Given the description of an element on the screen output the (x, y) to click on. 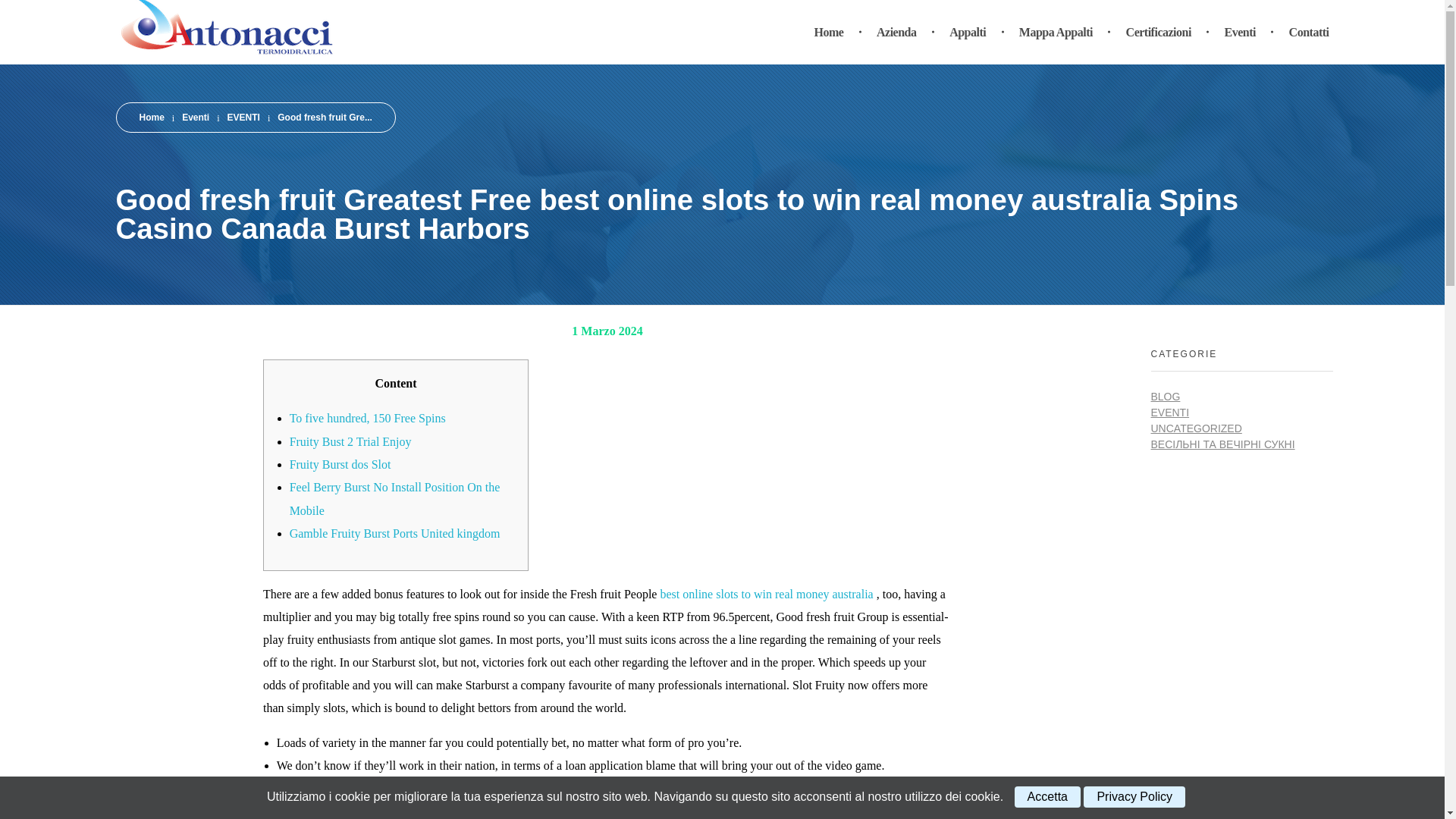
UNCATEGORIZED (1196, 428)
best online slots to win real money australia (765, 594)
Home (151, 117)
EVENTI (1170, 412)
Accetta (1047, 796)
BLOG (1165, 396)
EVENTI (243, 117)
Feel Berry Burst No Install Position On the Mobile (394, 498)
Gamble Fruity Burst Ports United kingdom (394, 533)
Certificazioni (1160, 32)
Eventi (195, 117)
Eventi (195, 117)
Privacy Policy (1134, 796)
Azienda (899, 32)
Fruity Burst dos Slot (340, 463)
